Given the description of an element on the screen output the (x, y) to click on. 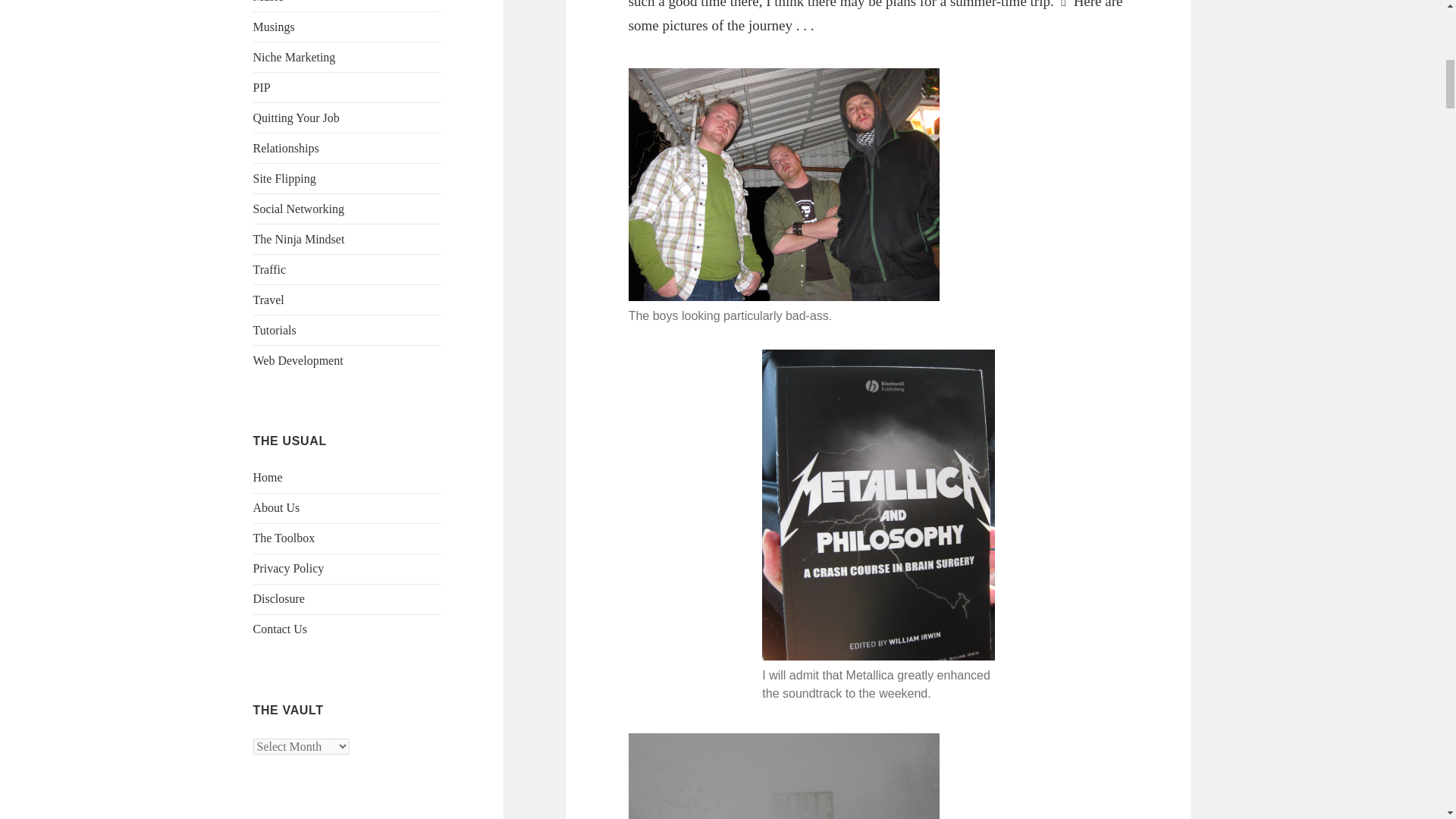
Traffic (269, 269)
Contact Us (280, 628)
Site Flipping (284, 178)
The Toolbox (284, 537)
Asheville 2009 (783, 776)
Travel (268, 299)
PIP (261, 87)
Privacy Policy (288, 567)
Niche Marketing (294, 56)
Quitting Your Job (296, 117)
